Given the description of an element on the screen output the (x, y) to click on. 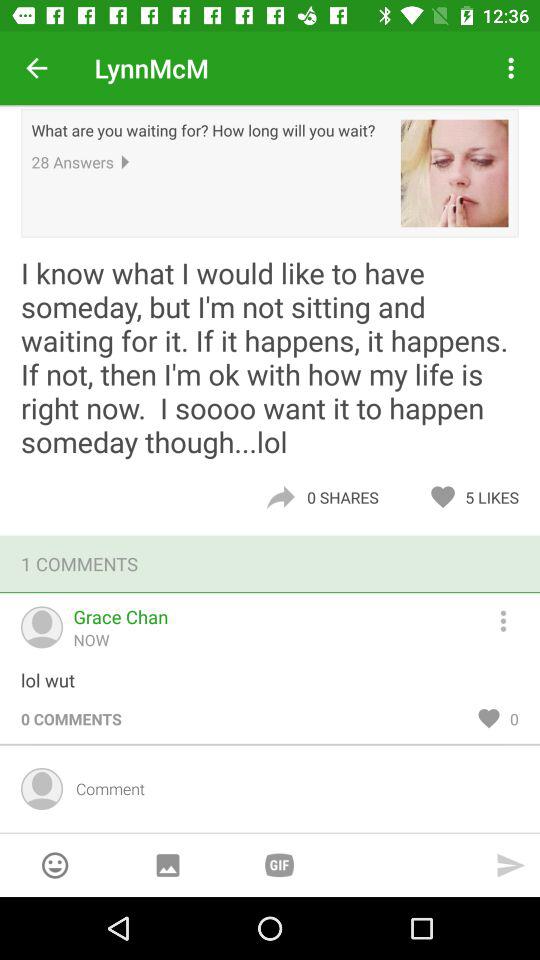
add an emoji (54, 865)
